Given the description of an element on the screen output the (x, y) to click on. 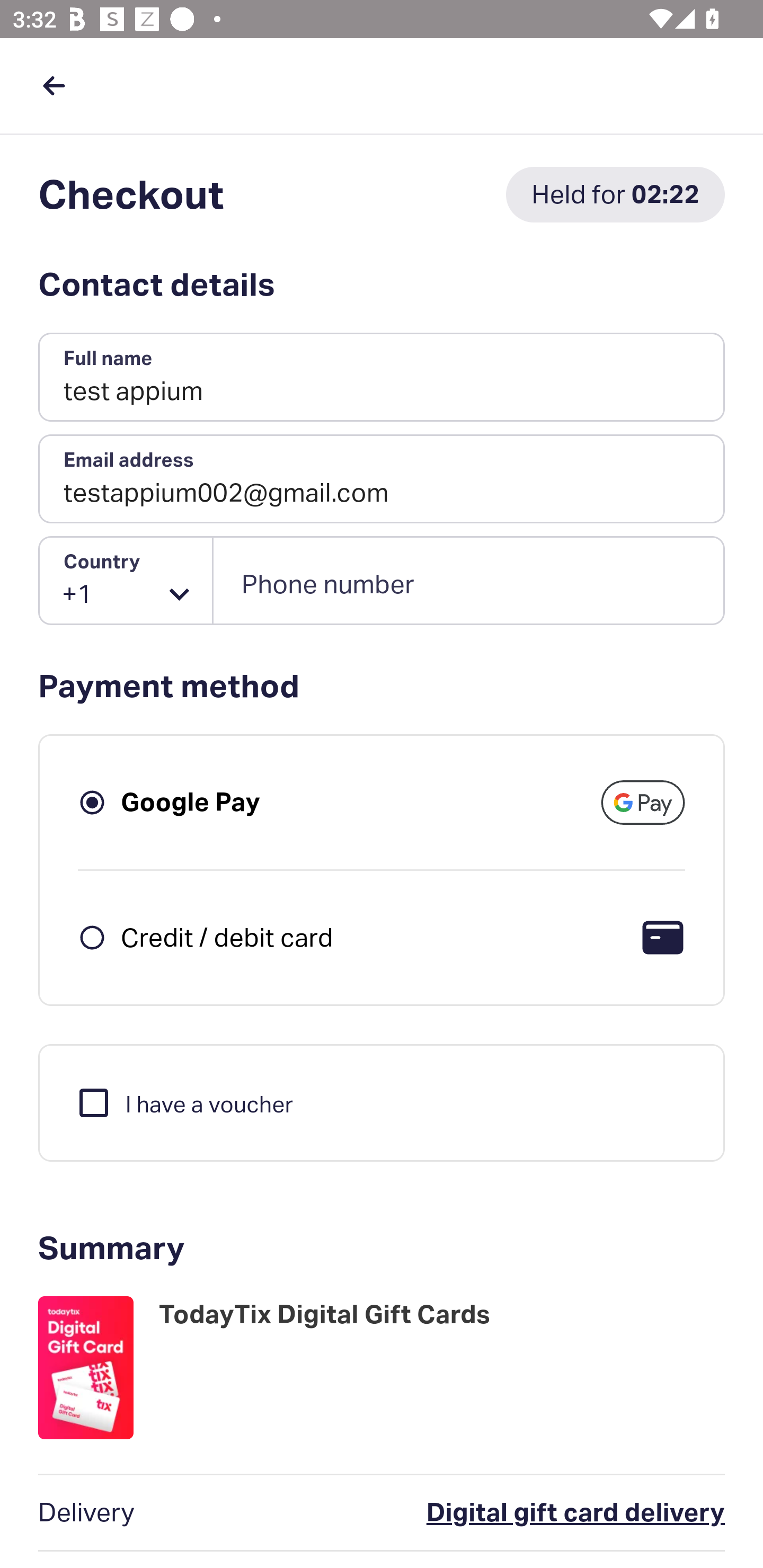
back button (53, 85)
test appium (381, 377)
testappium002@gmail.com (381, 478)
  +1 (126, 580)
Google Pay (190, 802)
Credit / debit card (227, 936)
I have a voucher (183, 1101)
Digital gift card delivery (495, 1512)
